Given the description of an element on the screen output the (x, y) to click on. 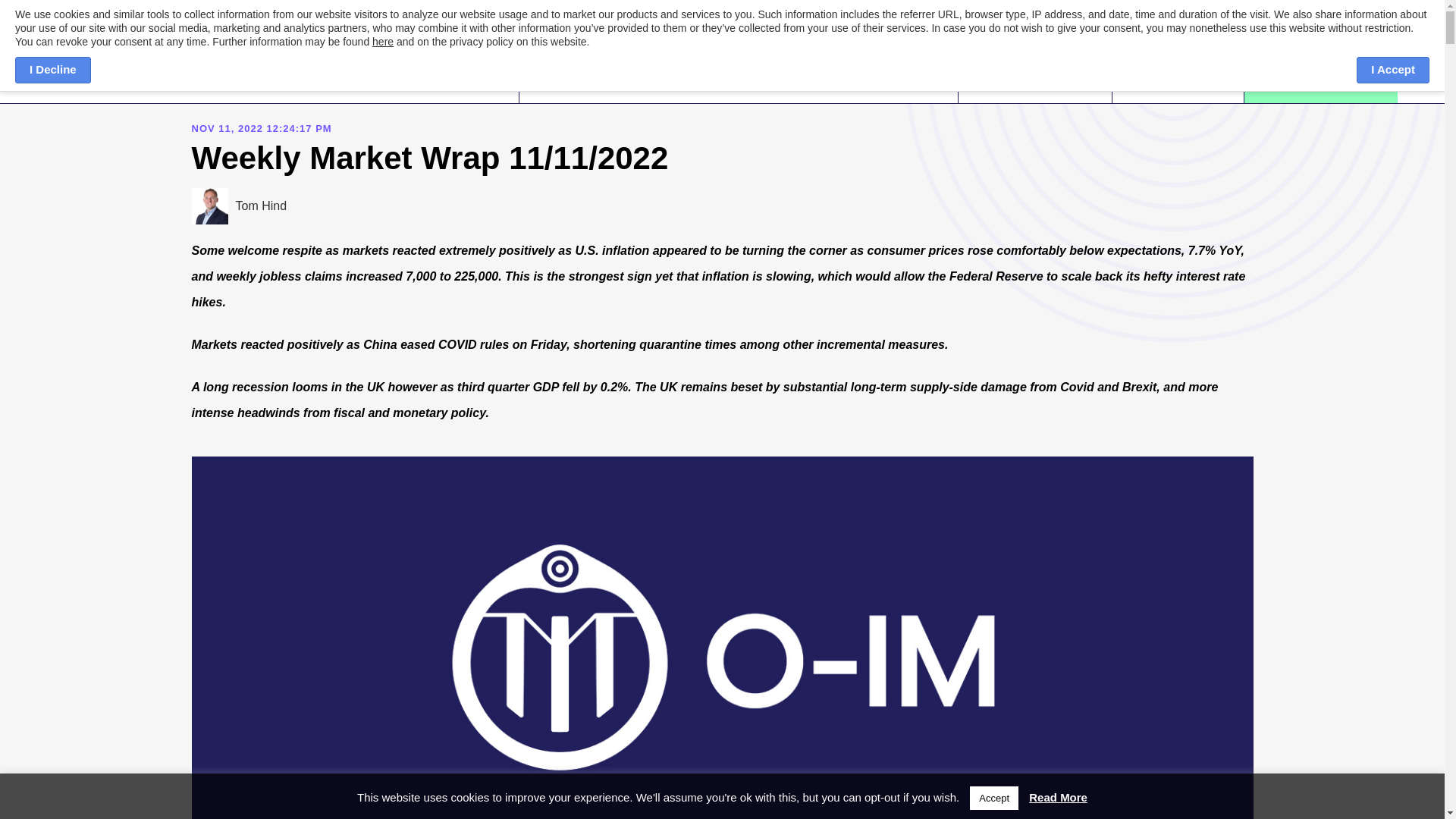
Client Login (1177, 60)
CONTACT US (890, 60)
I Decline (52, 69)
HOME (551, 60)
01202 129703 (1037, 61)
ABOUT US (628, 60)
ABOUT YOU (722, 60)
here (382, 41)
NEWS (805, 60)
Become A Client (1320, 60)
I Accept (1392, 69)
